Given the description of an element on the screen output the (x, y) to click on. 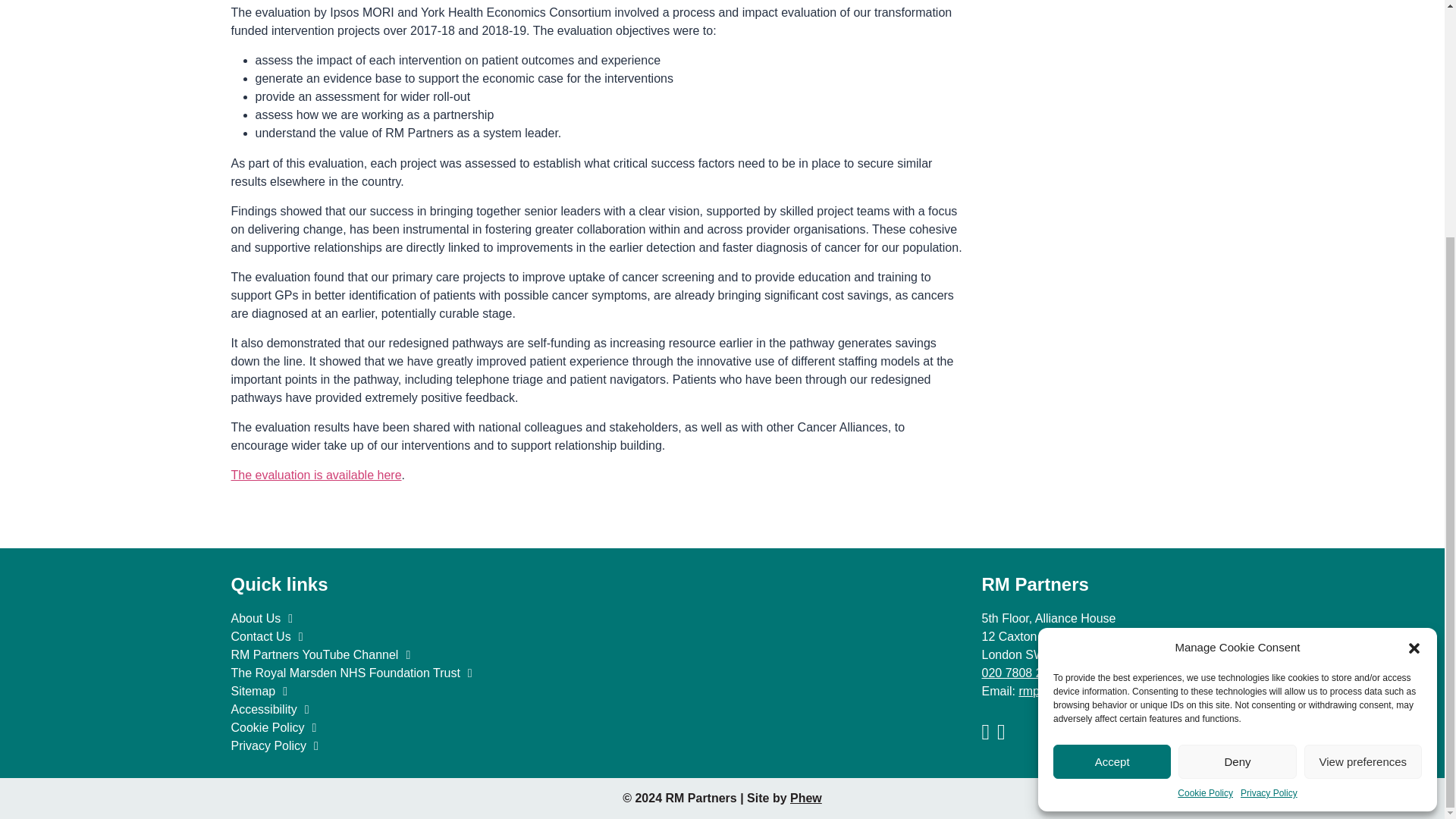
Privacy Policy (1268, 468)
Deny (1236, 437)
Cookie Policy (1205, 468)
View preferences (1363, 437)
Accept (1111, 437)
